Given the description of an element on the screen output the (x, y) to click on. 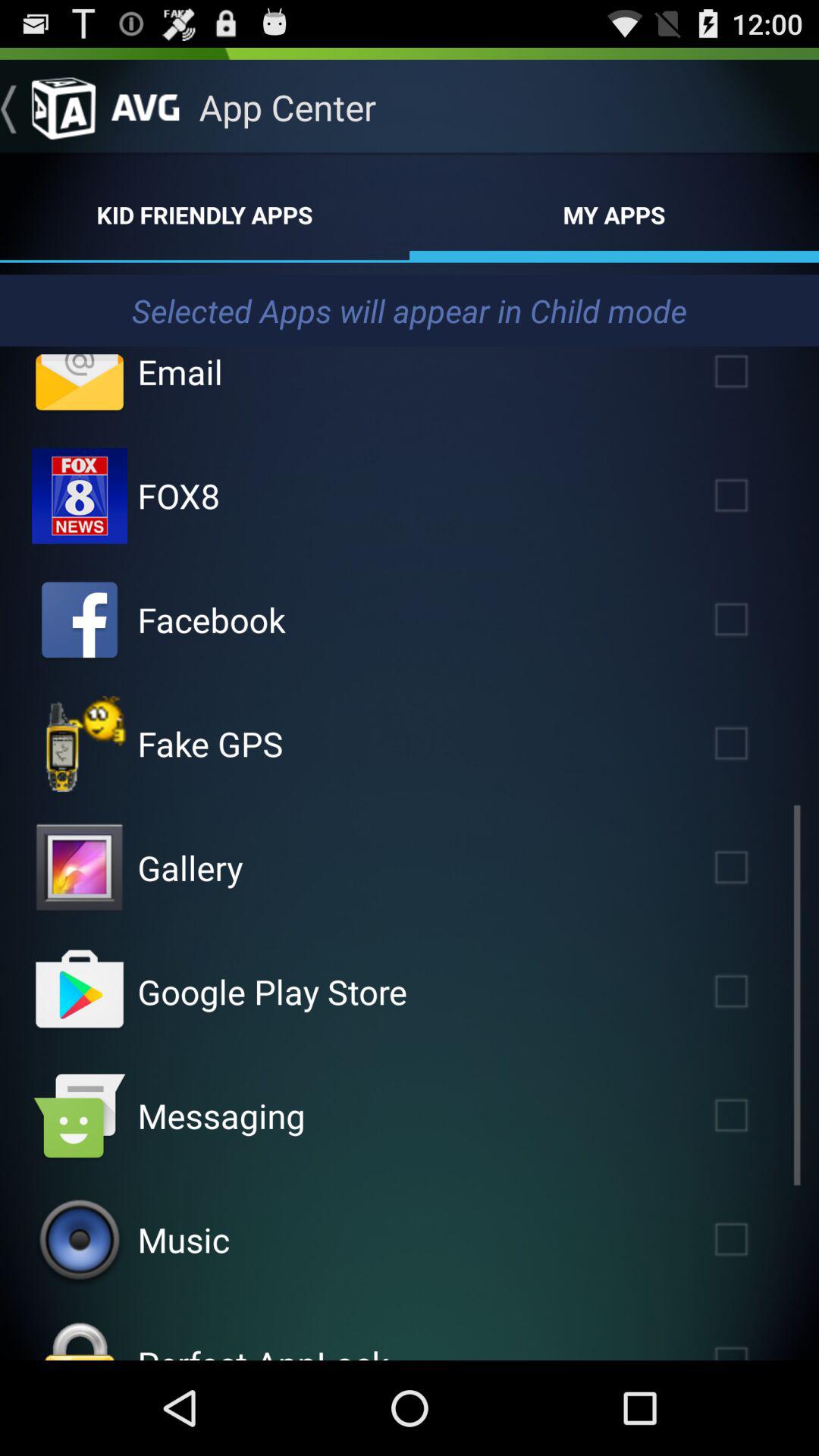
launch item below the facebook app (210, 743)
